Given the description of an element on the screen output the (x, y) to click on. 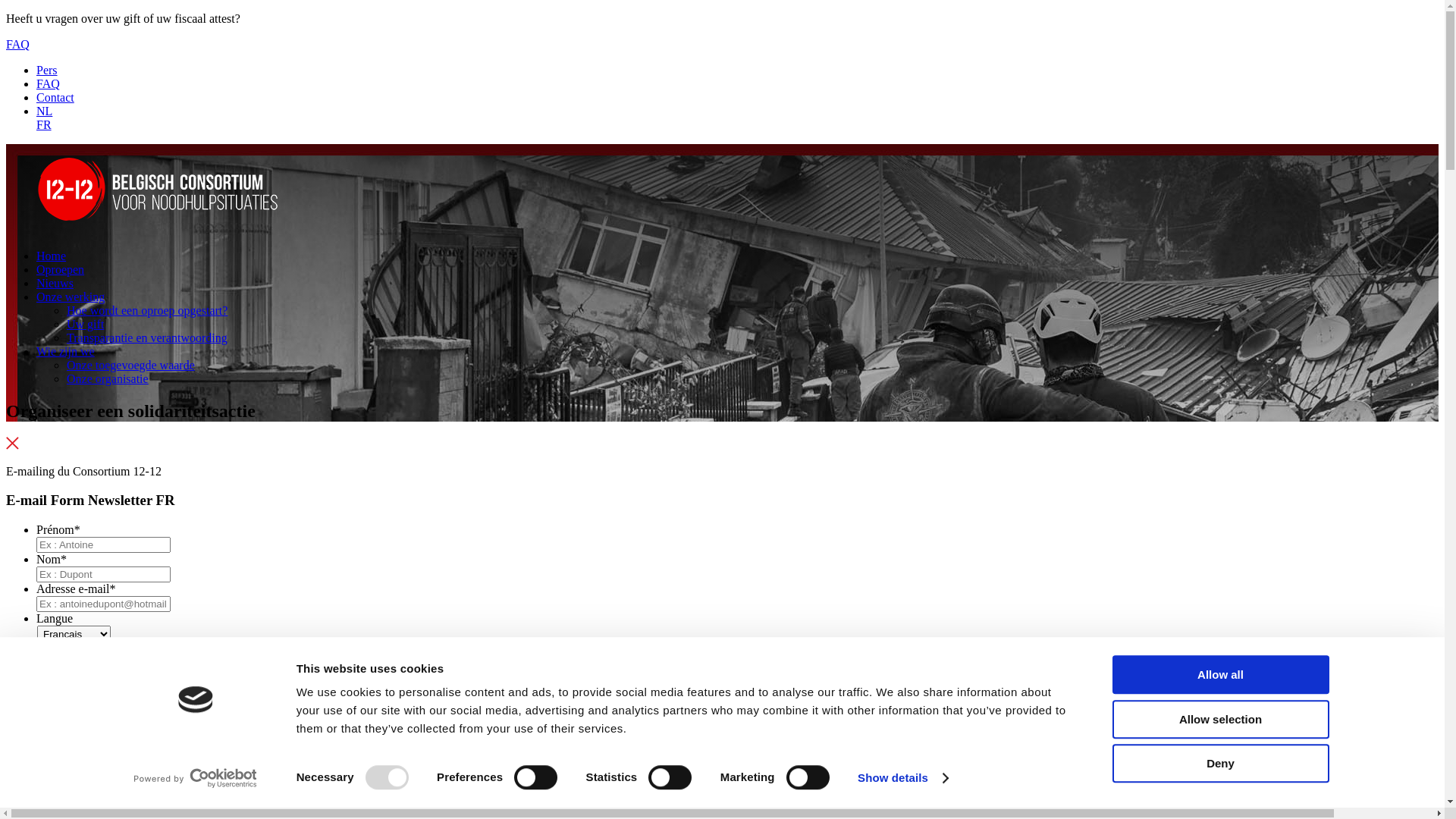
Wie zijn we Element type: text (65, 351)
Allow selection Element type: text (1219, 718)
Onze toegevoegde waarde Element type: text (130, 364)
Home Element type: text (50, 255)
Deny Element type: text (1219, 762)
FR Element type: text (43, 124)
Je m'inscris Element type: text (38, 691)
Show details Element type: text (902, 777)
FAQ Element type: text (17, 43)
Hoe wordt een oproep opgestart? Element type: text (146, 310)
FAQ Element type: text (47, 83)
Oproepen Element type: text (60, 269)
Contact Element type: text (55, 97)
Allow all Element type: text (1219, 674)
Uw gift Element type: text (84, 323)
Onze organisatie Element type: text (107, 378)
Nieuws Element type: text (54, 282)
Pers Element type: text (46, 69)
Onze werking Element type: text (70, 296)
Transparantie en verantwoording Element type: text (146, 337)
NL Element type: text (44, 110)
